Given the description of an element on the screen output the (x, y) to click on. 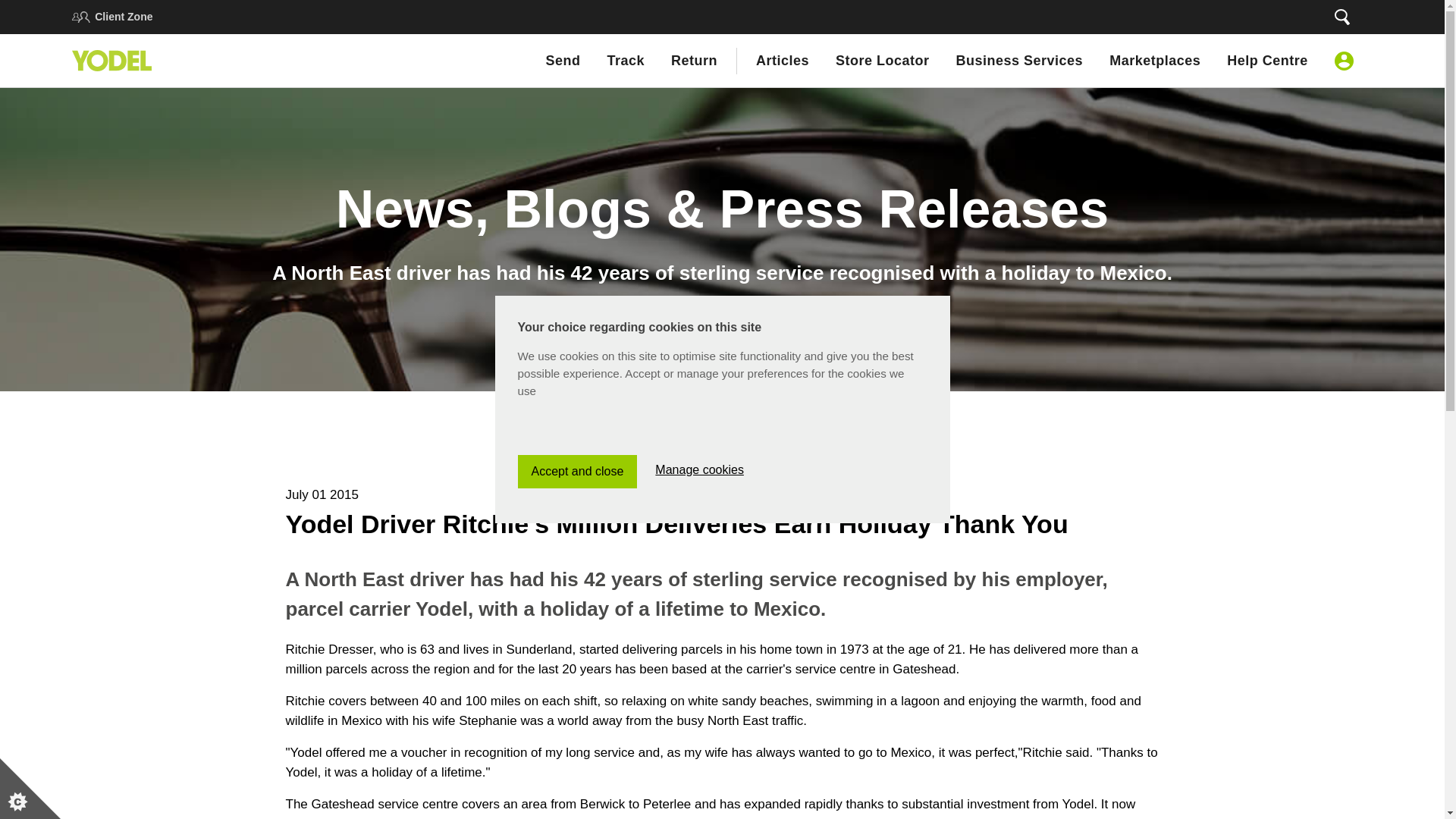
Manage cookies (699, 765)
Send (561, 59)
Articles (782, 59)
Client Zone (123, 17)
Return (694, 59)
Track (626, 59)
Accept and close (576, 777)
Store Locator (882, 59)
